Given the description of an element on the screen output the (x, y) to click on. 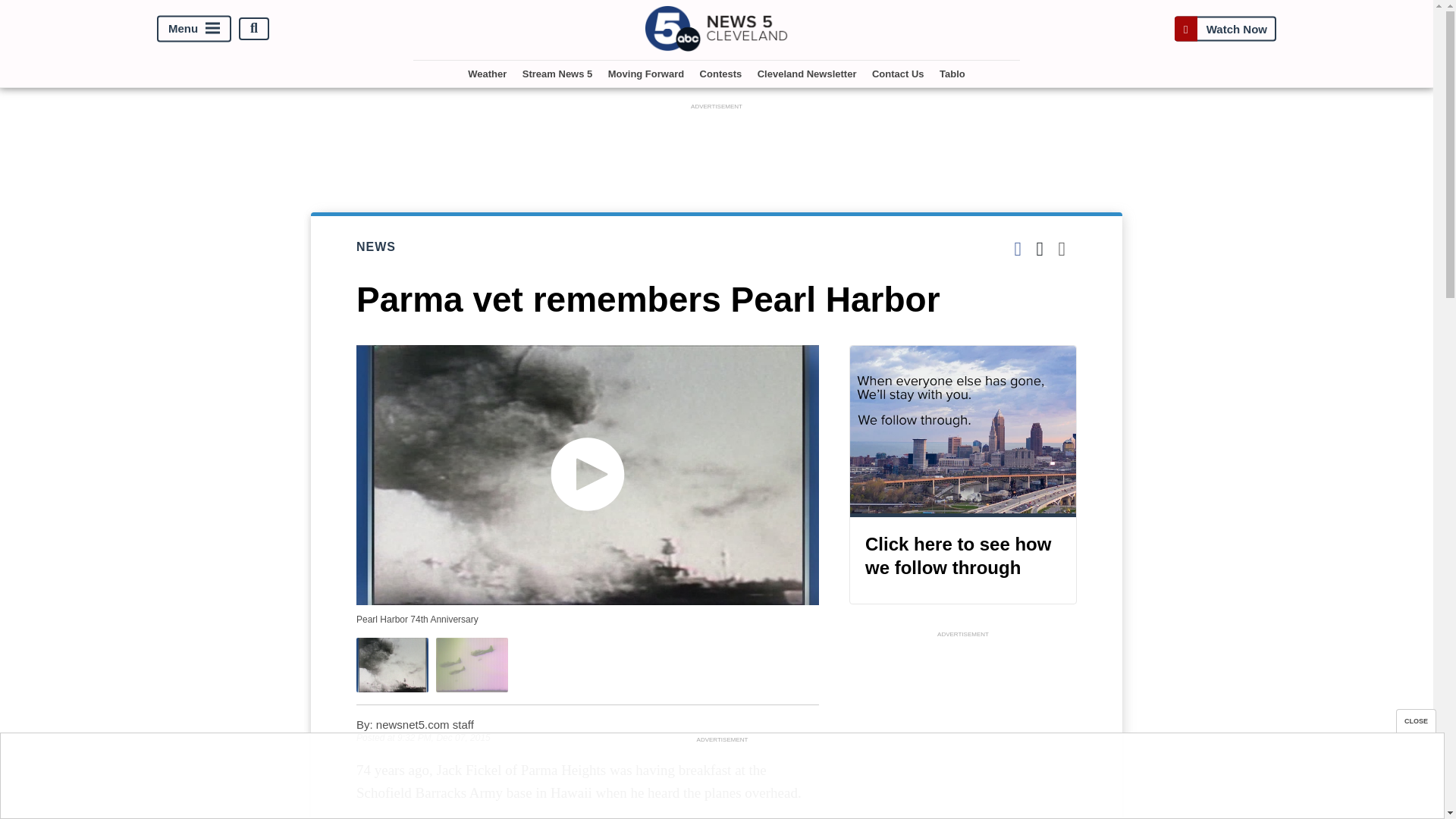
3rd party ad content (716, 147)
3rd party ad content (962, 730)
3rd party ad content (721, 780)
Menu (194, 28)
Watch Now (1224, 28)
